Given the description of an element on the screen output the (x, y) to click on. 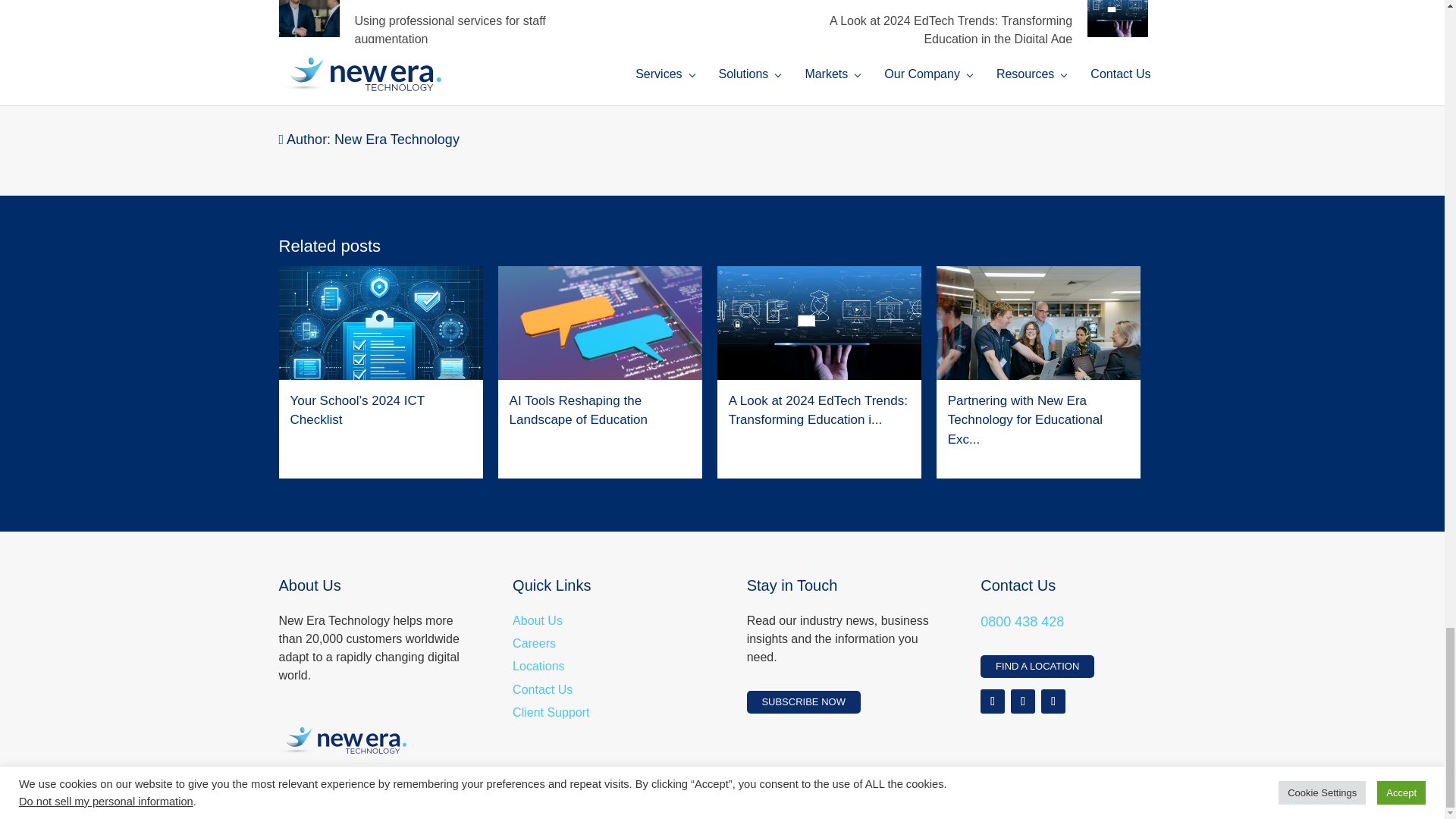
Follow on LinkedIn (1053, 701)
Follow on Twitter (1022, 701)
AI Tools Reshaping the Landscape of Education (599, 351)
Follow on Facebook (991, 701)
